Given the description of an element on the screen output the (x, y) to click on. 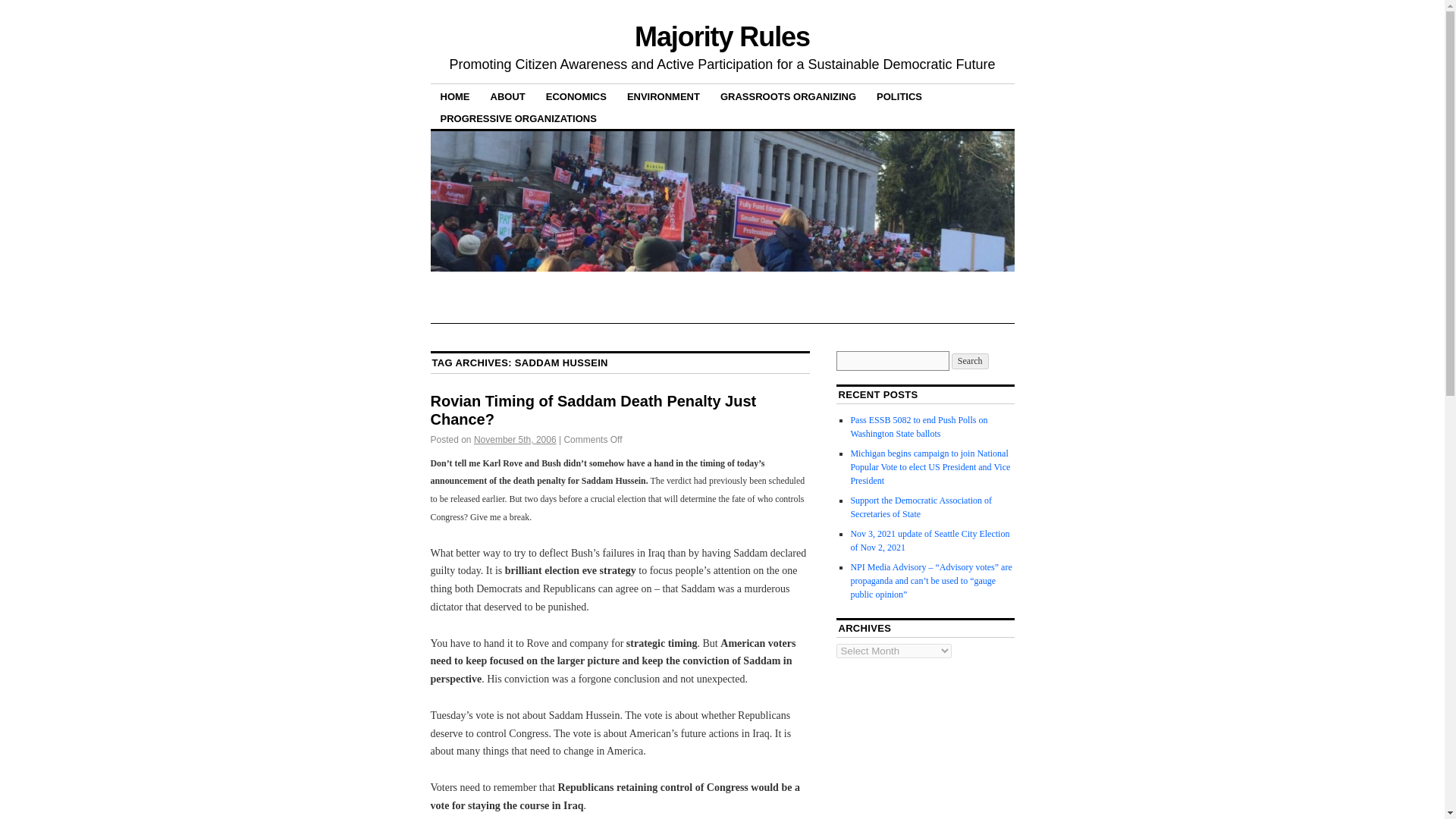
Search (970, 360)
HOME (455, 96)
Pass ESSB 5082 to end Push Polls on Washington State ballots (918, 426)
Support the Democratic Association of Secretaries of State (920, 507)
Majority Rules (721, 36)
November 5th, 2006 (515, 439)
Majority Rules (721, 36)
Search (970, 360)
Nov 3, 2021 update of Seattle City Election of Nov 2, 2021 (929, 540)
ECONOMICS (575, 96)
5:45 PM (515, 439)
POLITICS (898, 96)
GRASSROOTS ORGANIZING (788, 96)
ENVIRONMENT (663, 96)
ABOUT (507, 96)
